Given the description of an element on the screen output the (x, y) to click on. 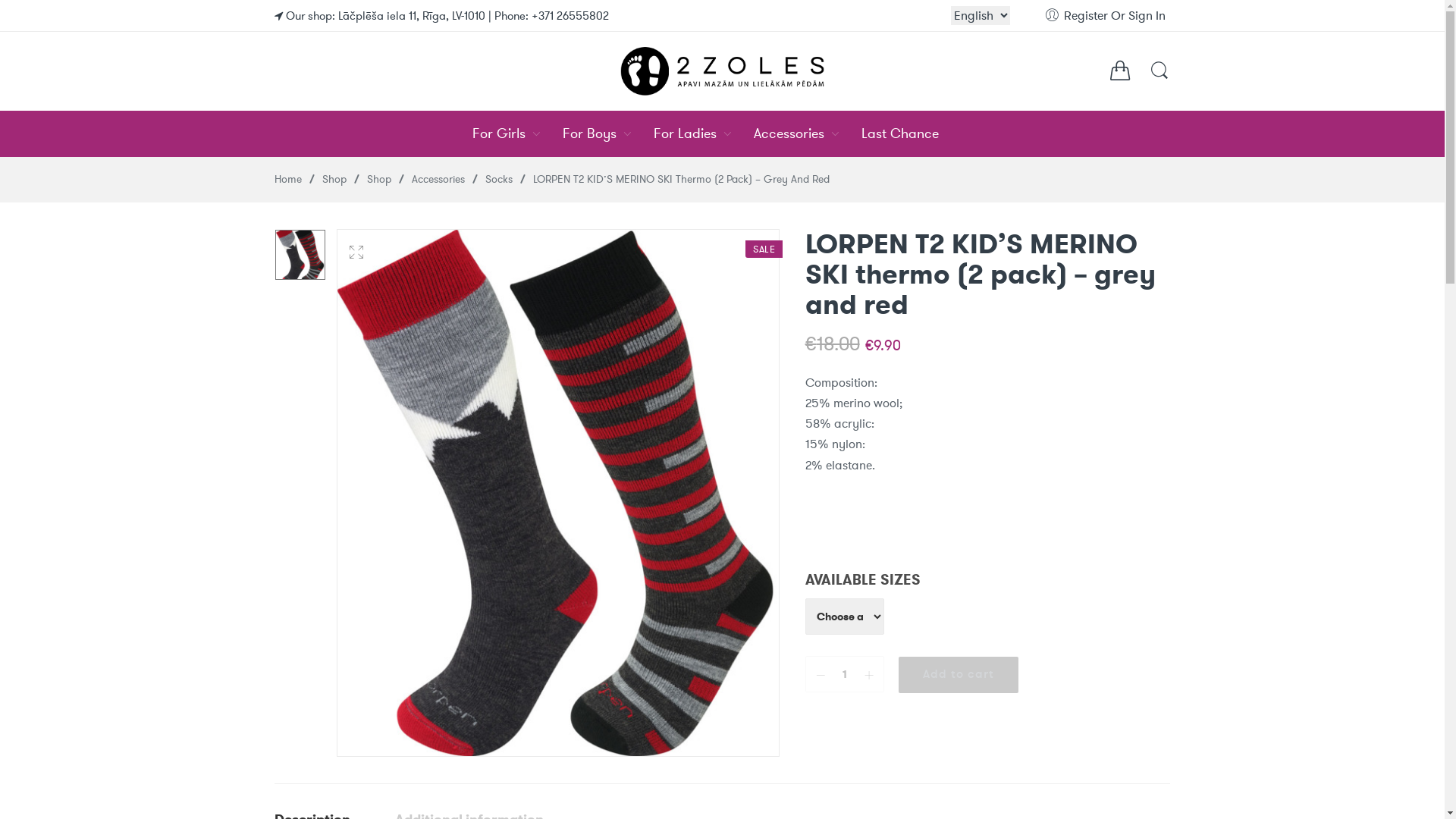
Last Chance Element type: text (916, 133)
Accessories Element type: text (805, 133)
Add to cart Element type: text (958, 674)
Lorpen Merino Kids Ski 2 Pack Black Red Element type: hover (300, 254)
Accessories Element type: text (437, 178)
For Girls Element type: text (514, 133)
+371 26555802 Element type: text (569, 15)
Lorpen Merino Kids Ski 2 Pack Black Red Element type: hover (557, 492)
Search Element type: hover (1159, 77)
search Element type: text (283, 40)
Register Or Sign In Element type: text (1107, 15)
Shop Element type: text (379, 178)
For Boys Element type: text (606, 133)
For Ladies Element type: text (701, 133)
Shop Element type: text (334, 178)
Socks Element type: text (498, 178)
Home Element type: text (287, 178)
Cart Element type: hover (1119, 72)
Qty Element type: hover (844, 673)
